Given the description of an element on the screen output the (x, y) to click on. 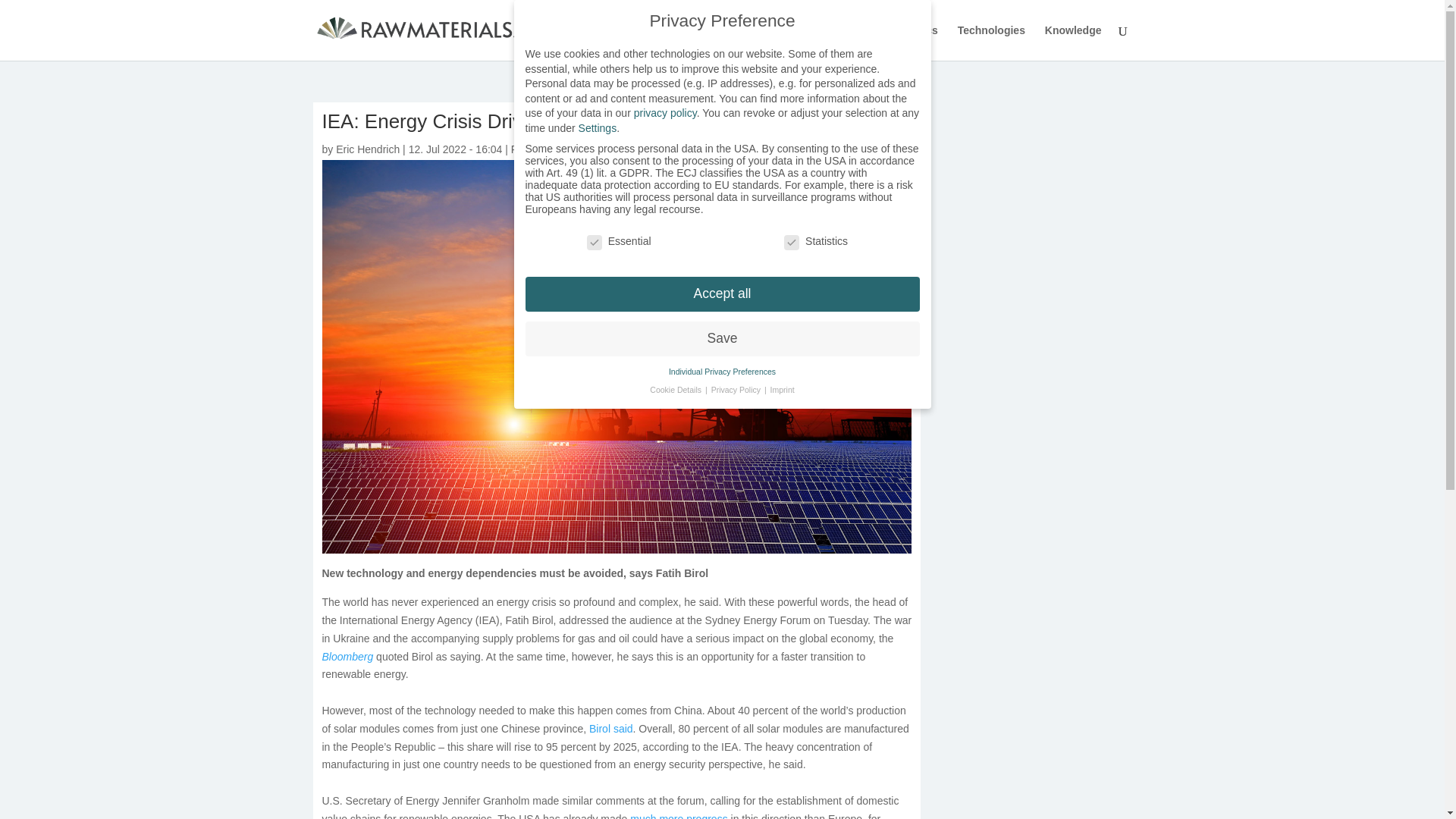
Eric Hendrich (367, 149)
Knowledge (1073, 42)
Save (721, 338)
Accept all (721, 294)
Birol said (611, 728)
much more progress (680, 816)
Politics (918, 42)
Bloomberg (346, 656)
Settings (597, 128)
